Given the description of an element on the screen output the (x, y) to click on. 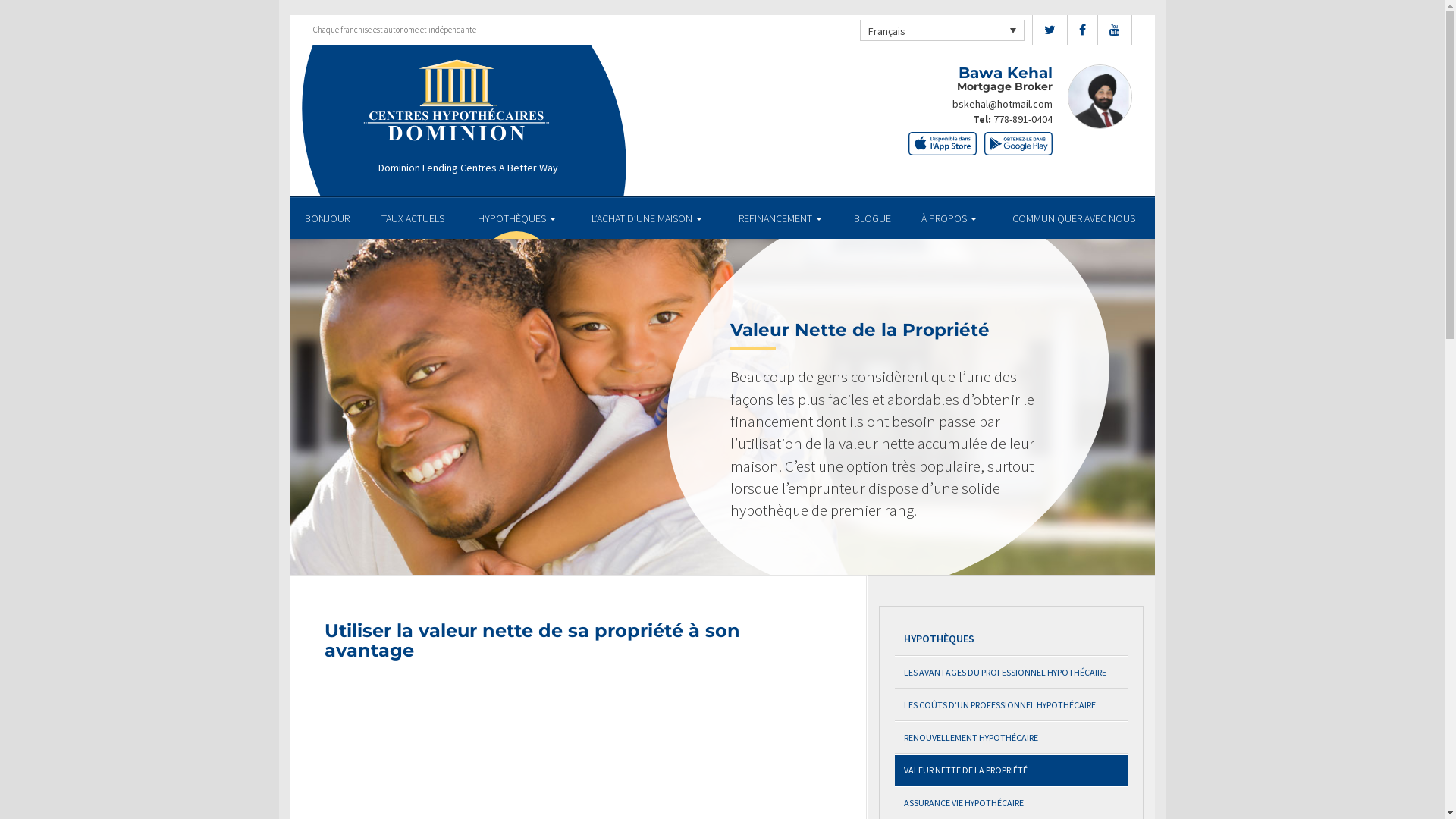
BLOGUE Element type: text (872, 217)
REFINANCEMENT Element type: text (780, 217)
778-891-0404 Element type: text (1022, 118)
bskehal@hotmail.com Element type: text (1002, 103)
TAUX ACTUELS Element type: text (412, 217)
COMMUNIQUER AVEC NOUS Element type: text (1073, 217)
BONJOUR Element type: text (326, 217)
